Given the description of an element on the screen output the (x, y) to click on. 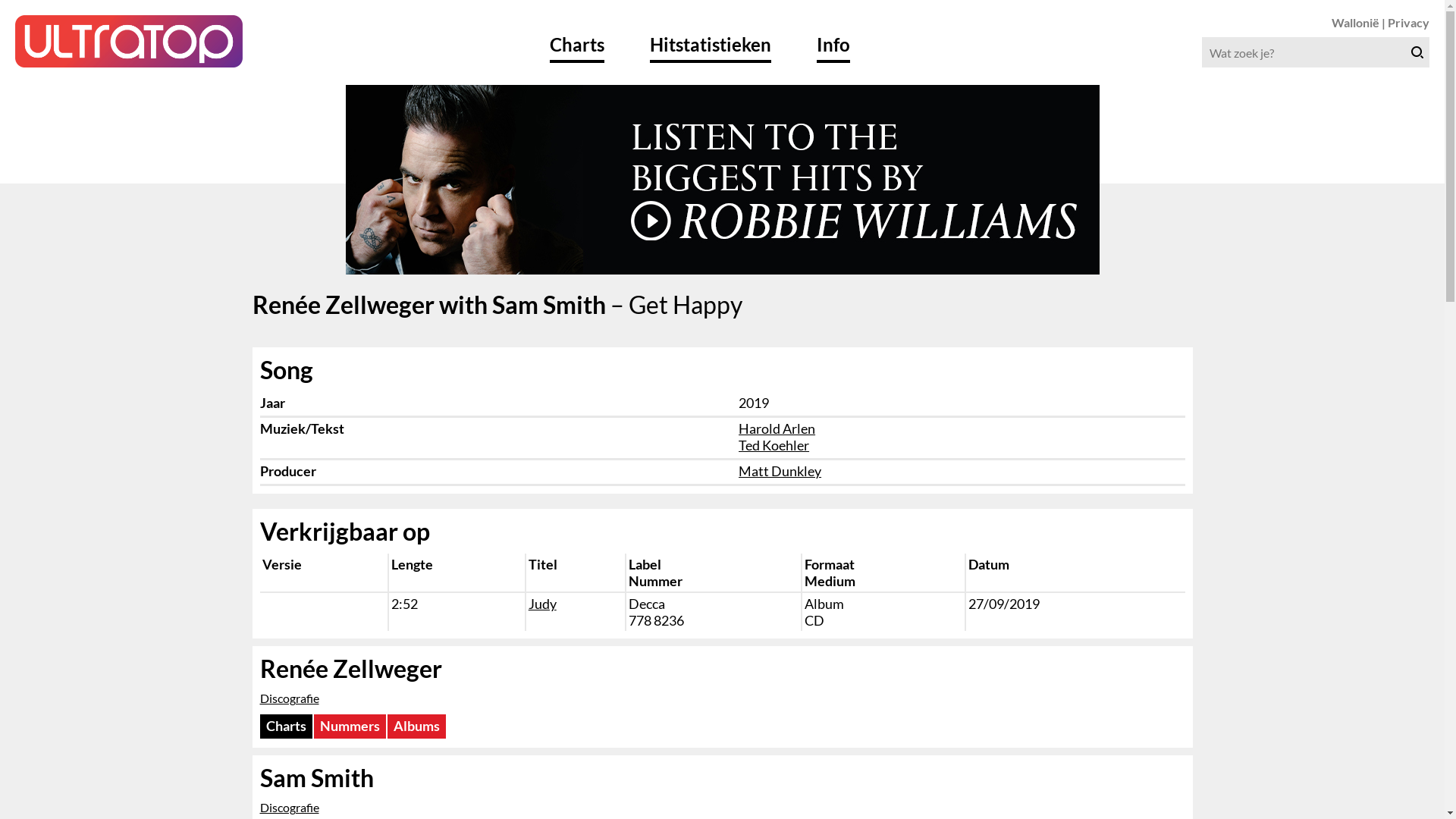
Matt Dunkley Element type: text (779, 470)
Judy Element type: text (542, 603)
Discografie Element type: text (288, 807)
Nummers Element type: text (349, 726)
Privacy Element type: text (1408, 22)
Albums Element type: text (415, 726)
Charts Element type: text (285, 726)
Harold Arlen Element type: text (776, 428)
Discografie Element type: text (288, 697)
Ted Koehler Element type: text (773, 444)
